Given the description of an element on the screen output the (x, y) to click on. 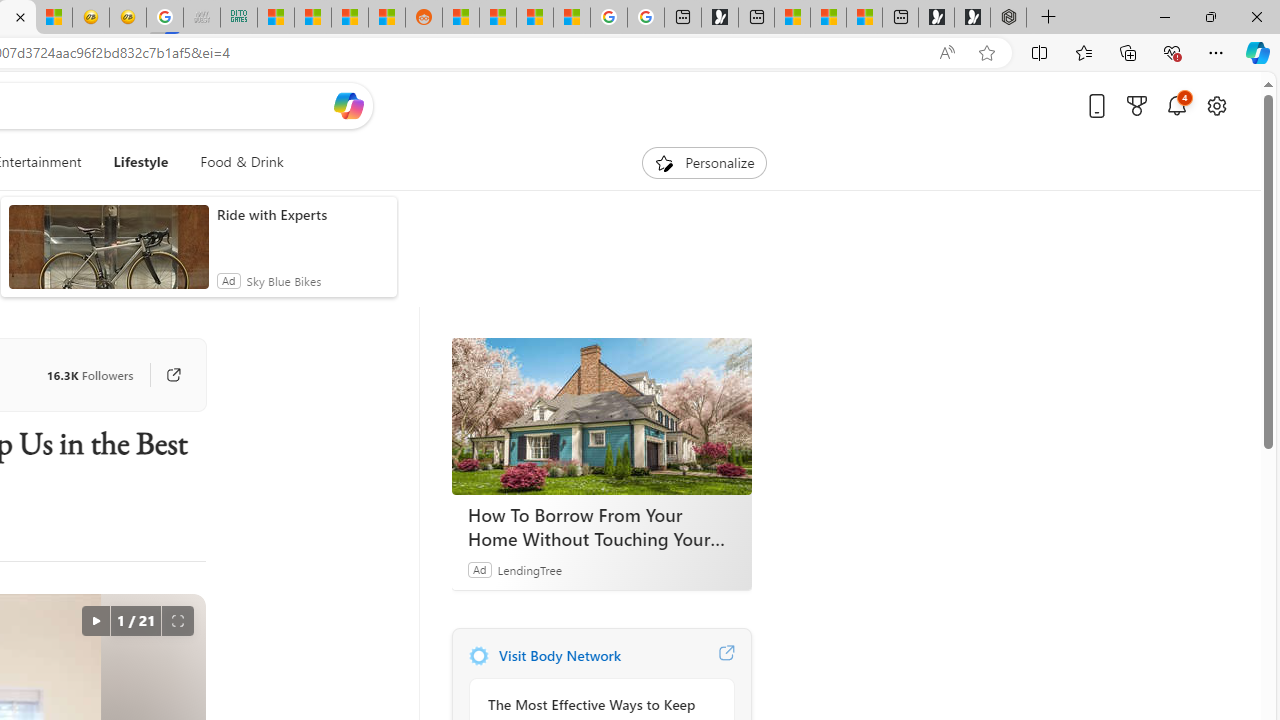
Go to publisher's site (164, 374)
LendingTree (528, 569)
